Given the description of an element on the screen output the (x, y) to click on. 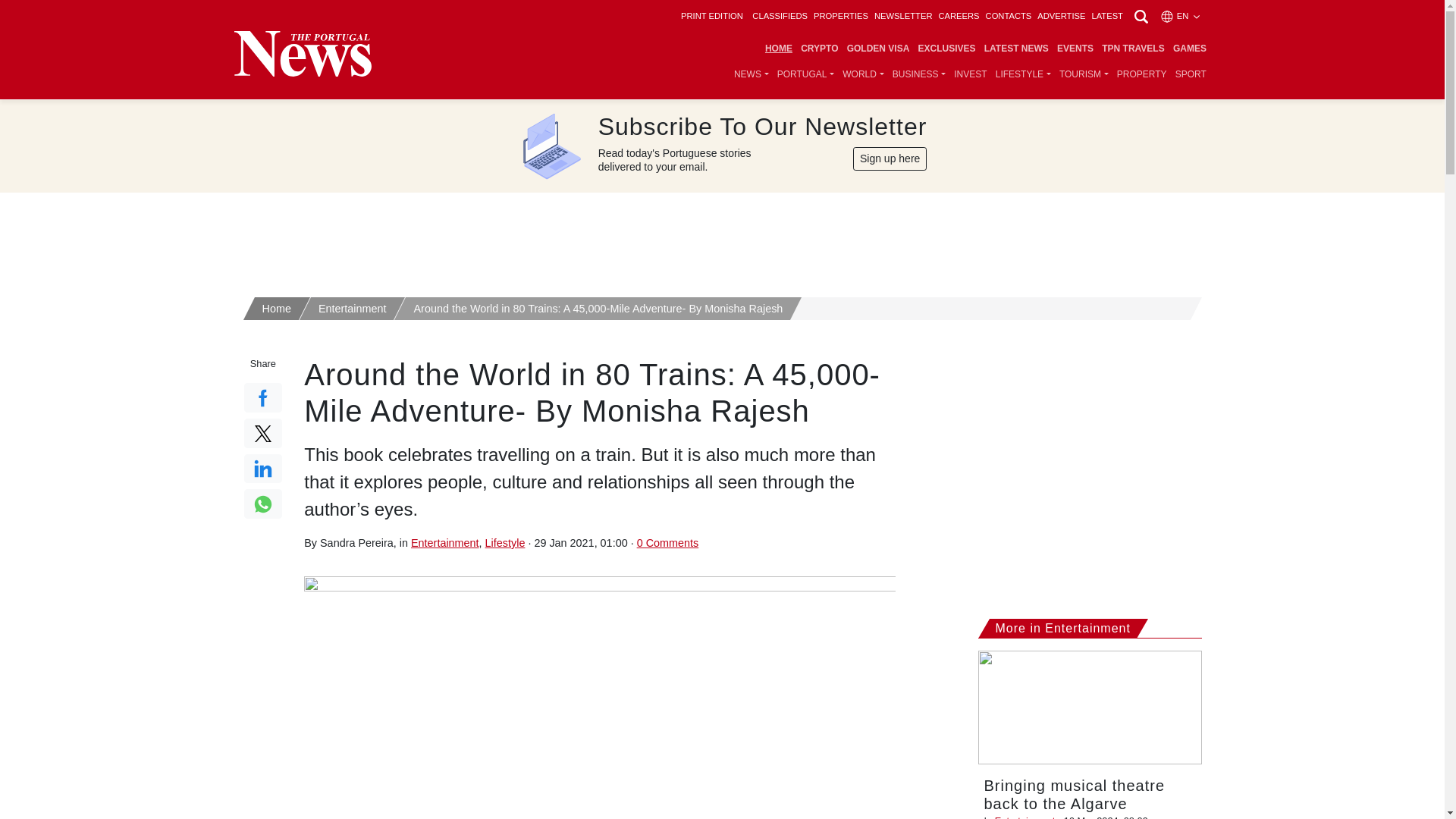
NEWS (751, 73)
CRYPTO (819, 48)
GOLDEN VISA (878, 48)
PORTUGAL (805, 73)
TPN TRAVELS (1133, 48)
ADVERTISE (1060, 15)
CONTACTS (1008, 15)
HOME (778, 48)
GAMES (1189, 48)
LATEST (1106, 15)
